Given the description of an element on the screen output the (x, y) to click on. 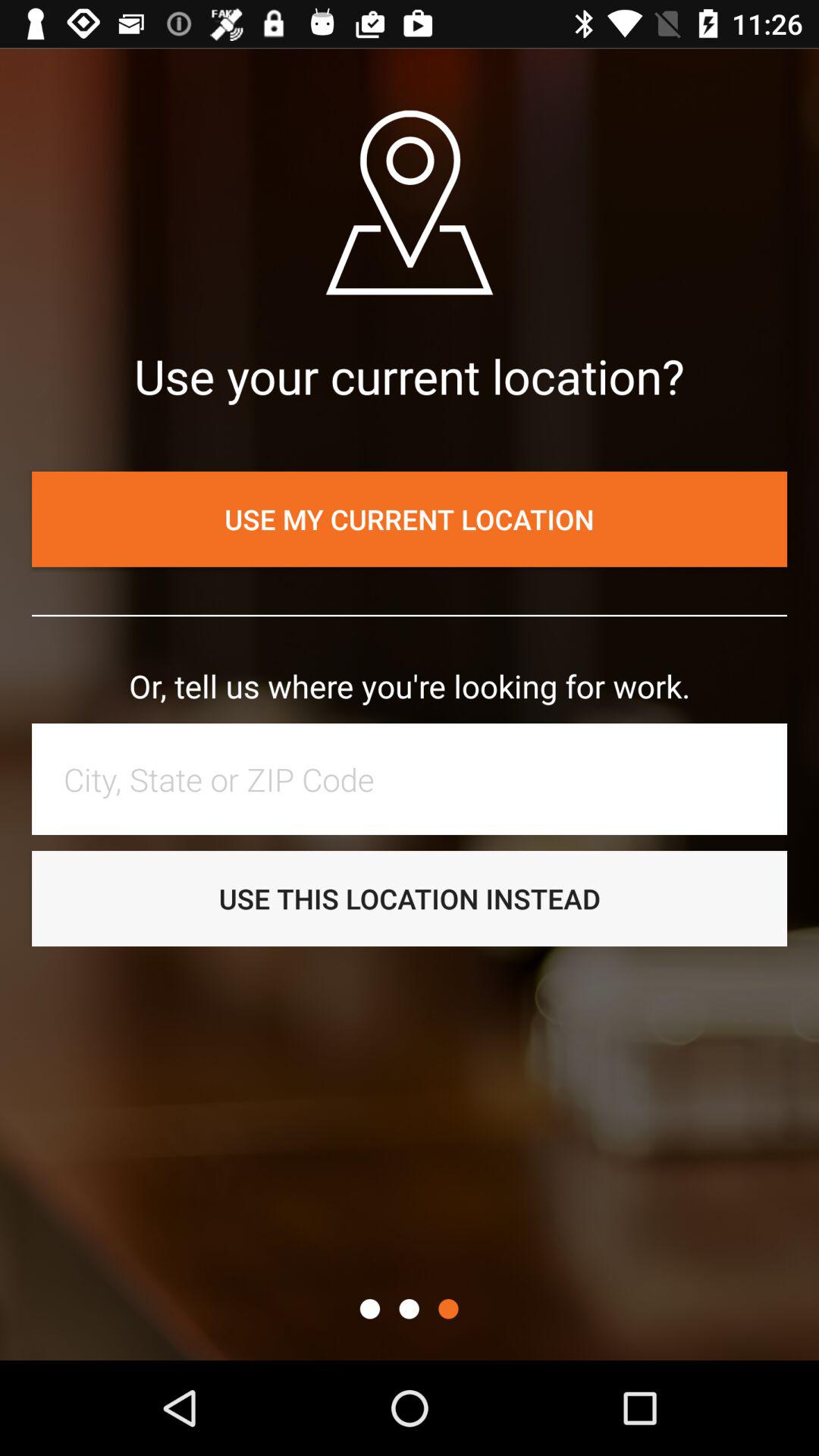
further options (448, 1308)
